Given the description of an element on the screen output the (x, y) to click on. 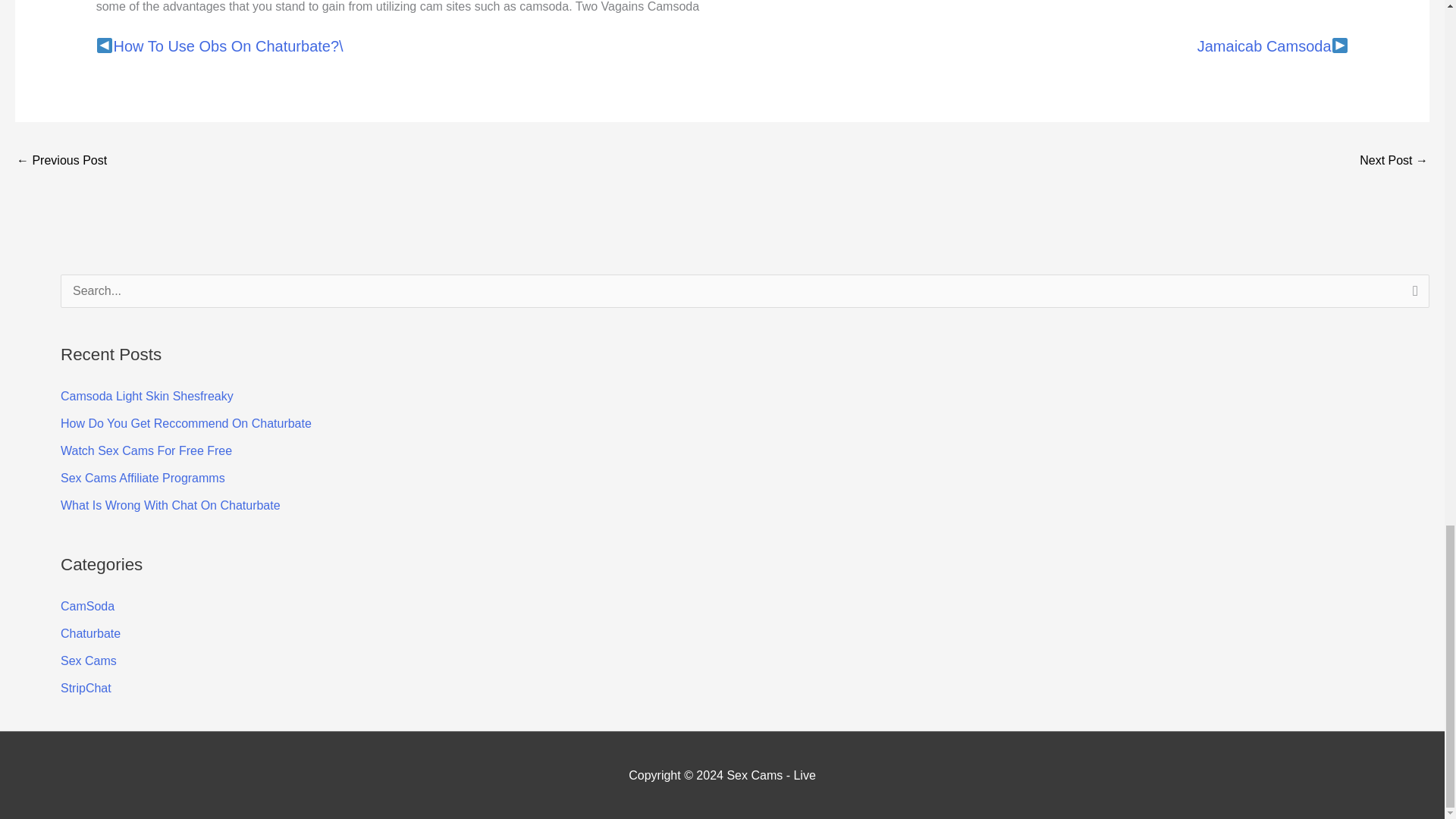
CamSoda (88, 605)
Jamaicab Camsoda (1264, 45)
Camsoda Light Skin Shesfreaky (146, 395)
StripChat (86, 687)
Sex Cams Affiliate Programms (143, 477)
Jamaicab Camsoda (1393, 162)
Jamaicab Camsoda (1264, 45)
What Is Wrong With Chat On Chaturbate (171, 504)
Sex Cams (88, 660)
How Do You Get Reccommend On Chaturbate (186, 422)
Watch Sex Cams For Free Free (146, 450)
Chaturbate (90, 633)
